Given the description of an element on the screen output the (x, y) to click on. 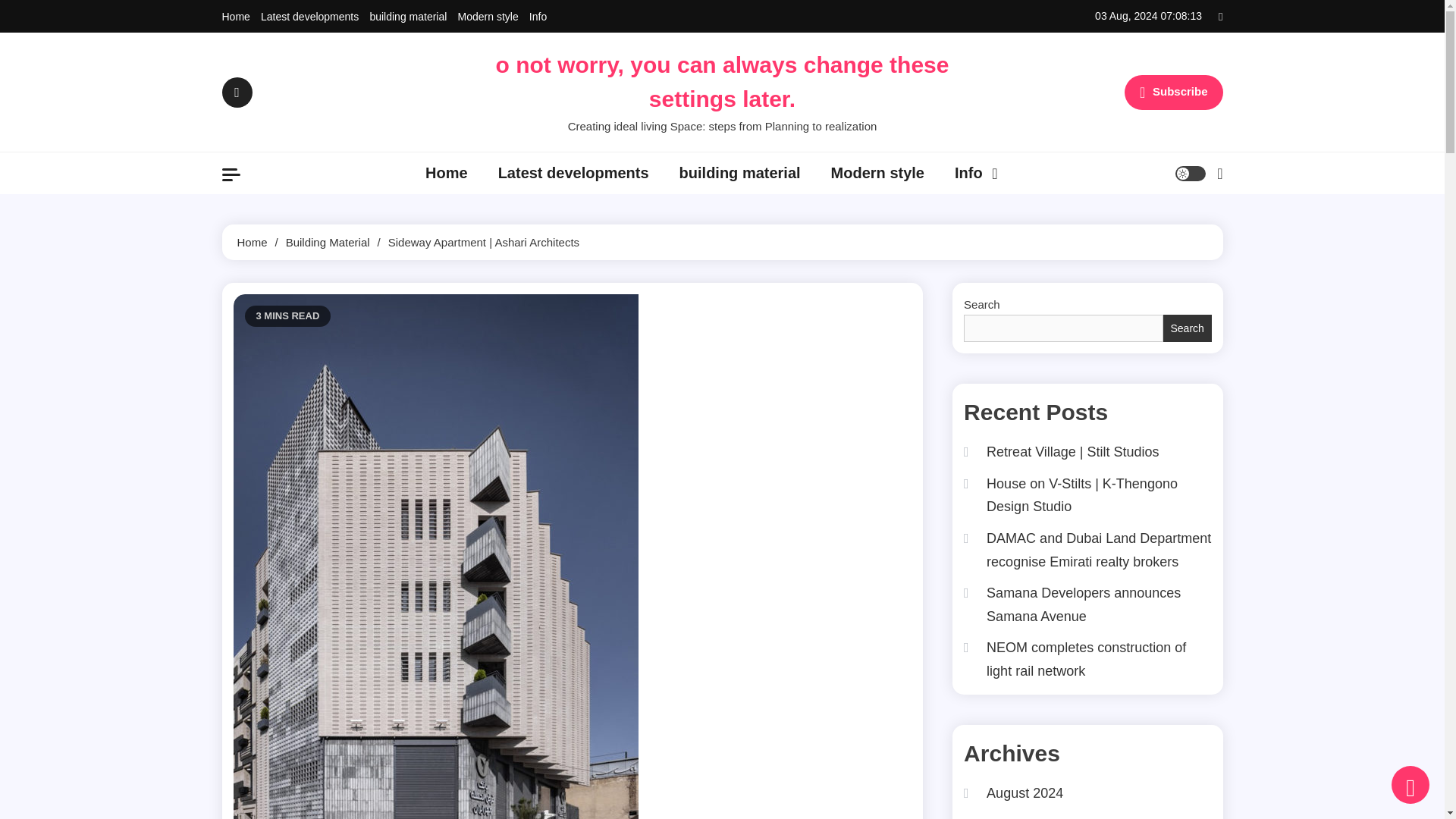
Home (250, 241)
Search (1180, 231)
Home (446, 173)
site mode button (1189, 173)
o not worry, you can always change these settings later. (722, 81)
Info (972, 173)
Building Material (327, 241)
Modern style (488, 16)
Latest developments (573, 173)
Modern style (877, 173)
Latest developments (309, 16)
building material (739, 173)
building material (407, 16)
Info (538, 16)
Subscribe (1173, 92)
